Given the description of an element on the screen output the (x, y) to click on. 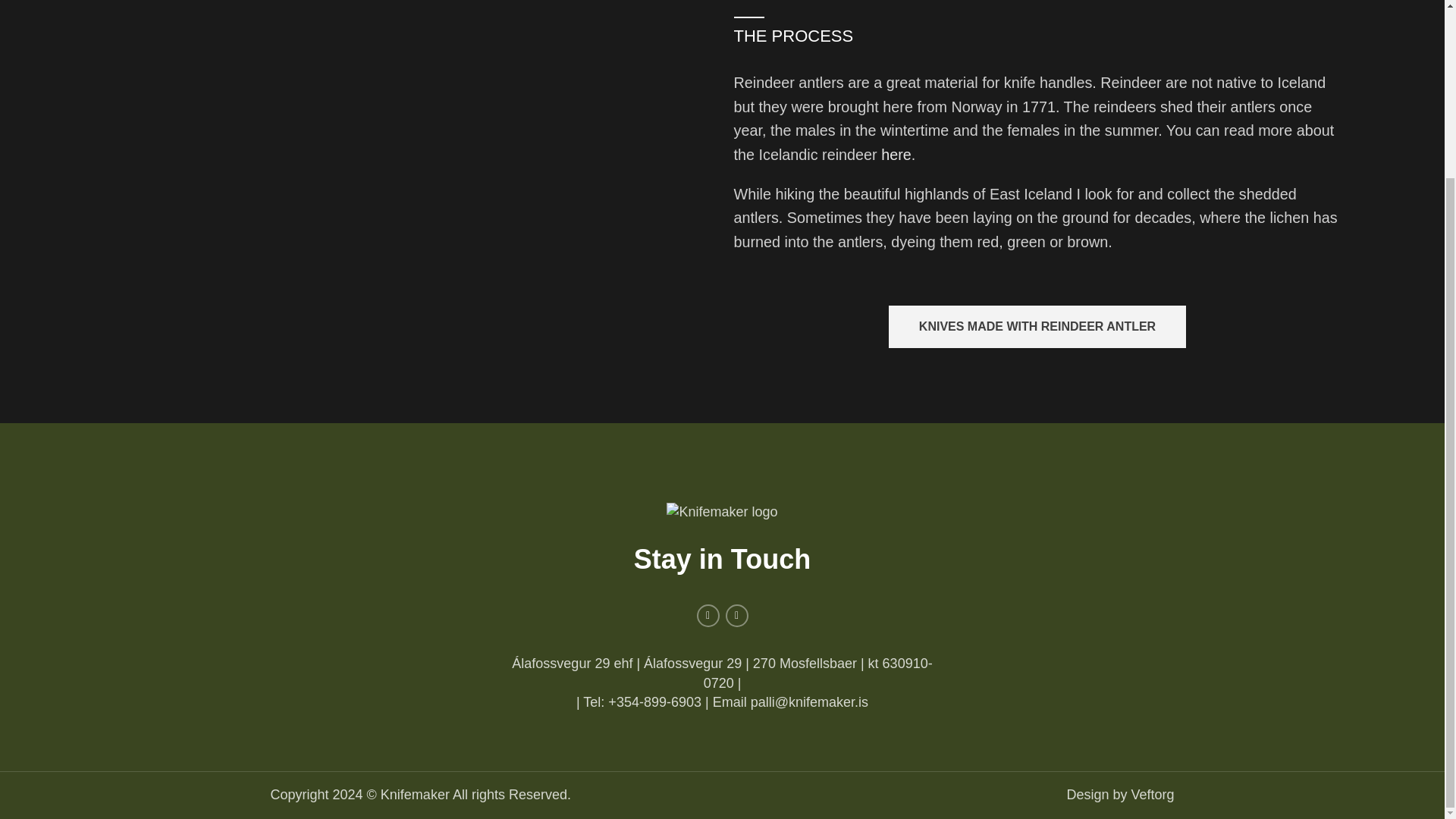
KNIVES MADE WITH REINDEER ANTLER (1037, 326)
here (895, 154)
Knifemaker logo (721, 511)
